Given the description of an element on the screen output the (x, y) to click on. 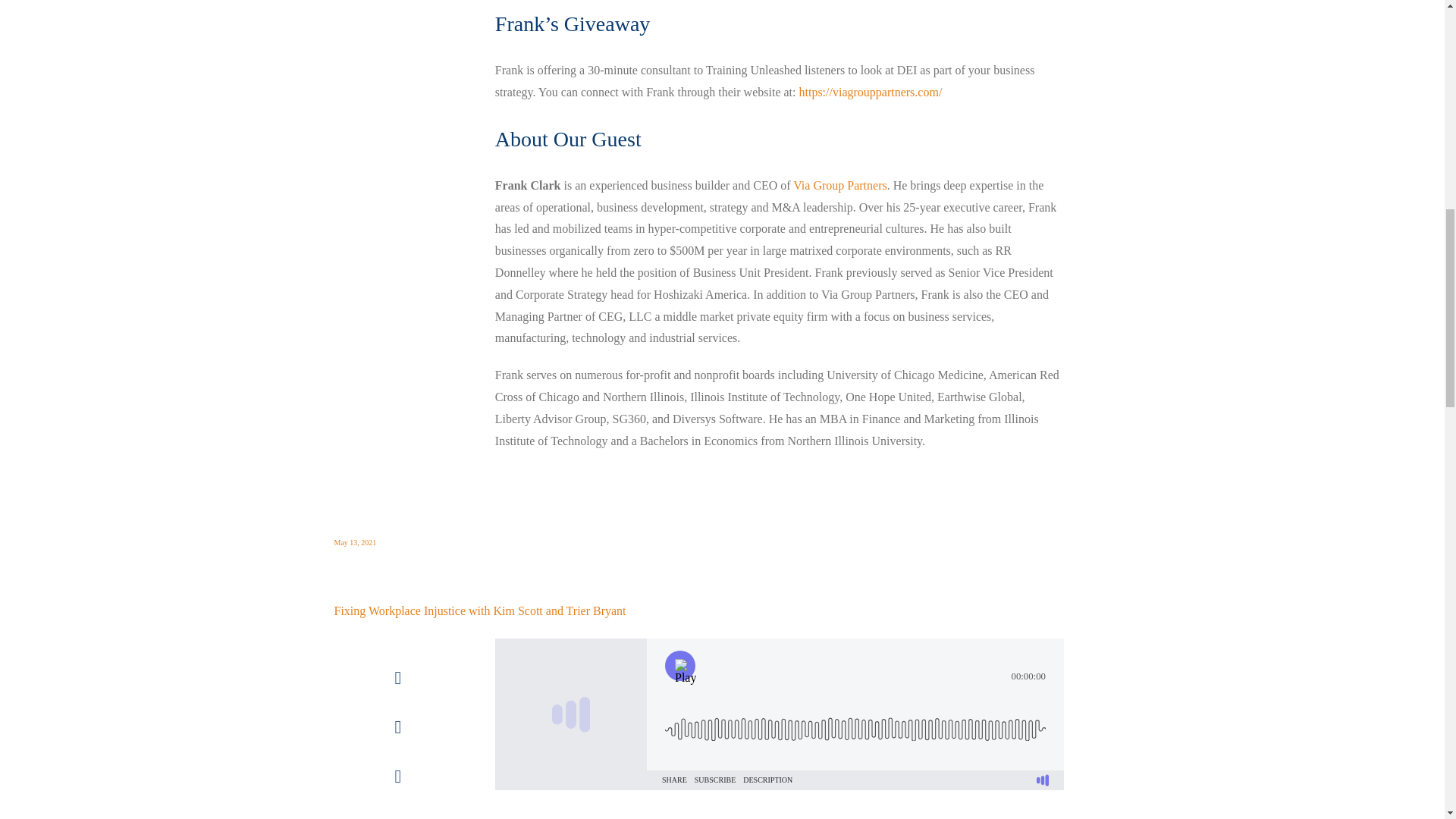
LinkedIn (398, 808)
Fixing Workplace Injustice with Kim Scott and Trier Bryant (479, 610)
Via Group Partners (839, 185)
